Given the description of an element on the screen output the (x, y) to click on. 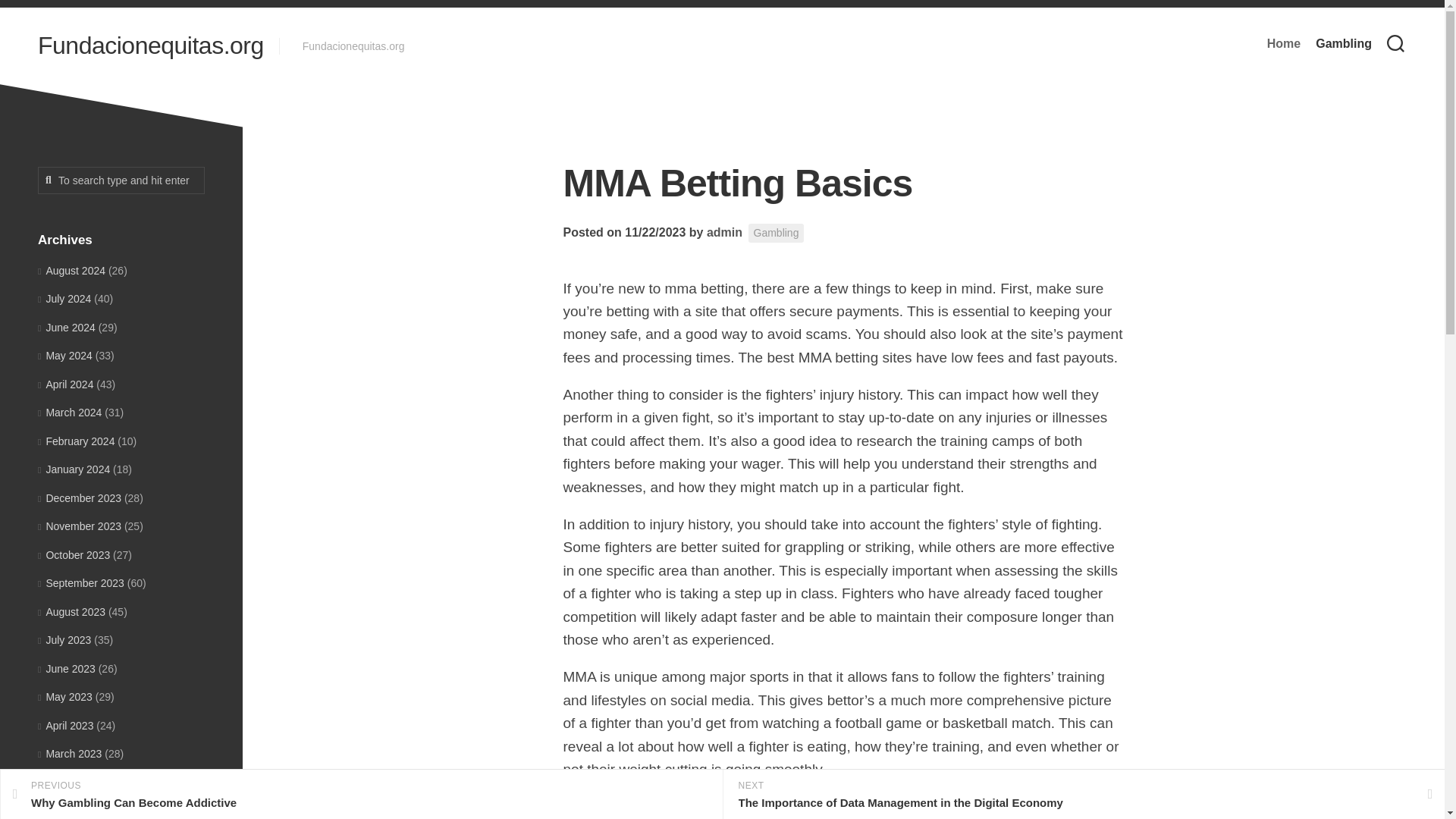
April 2024 (65, 383)
March 2024 (69, 412)
January 2024 (73, 469)
Fundacionequitas.org (150, 44)
Home (1283, 43)
October 2023 (73, 554)
Posts by admin (724, 232)
March 2023 (69, 753)
Gambling (776, 232)
February 2023 (76, 782)
